Given the description of an element on the screen output the (x, y) to click on. 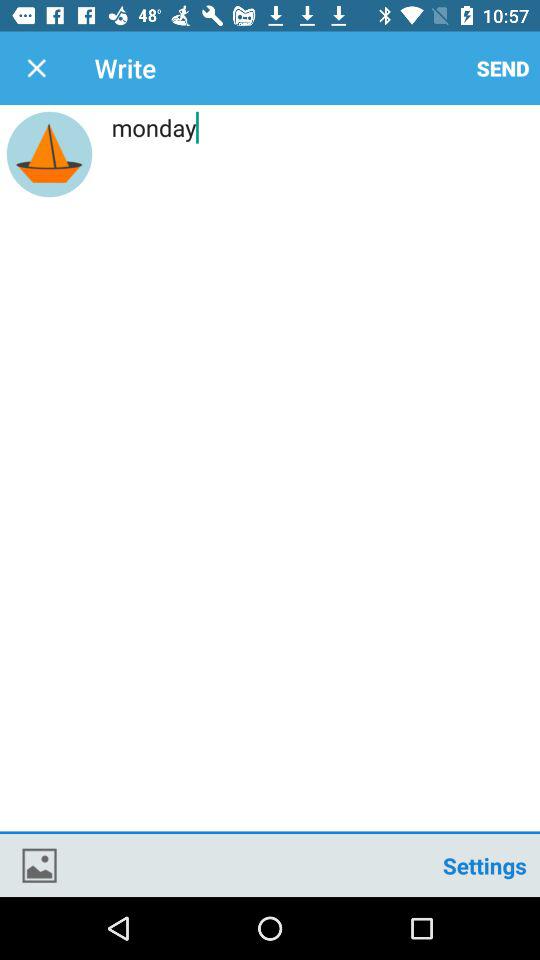
turn off settings (484, 864)
